Given the description of an element on the screen output the (x, y) to click on. 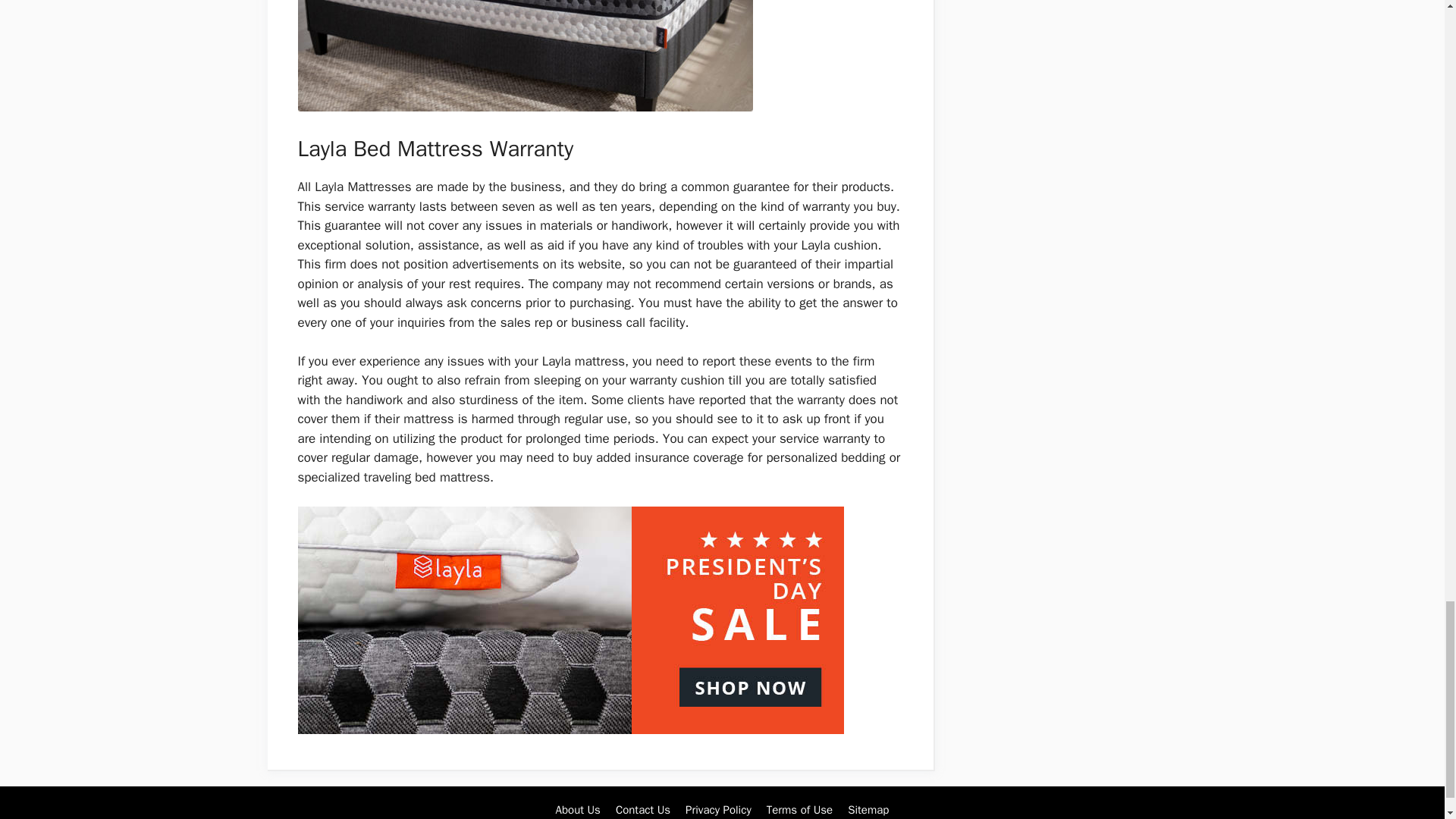
Sitemap (867, 809)
About Us (577, 809)
Terms of Use (799, 809)
Privacy Policy (718, 809)
Contact Us (642, 809)
